Given the description of an element on the screen output the (x, y) to click on. 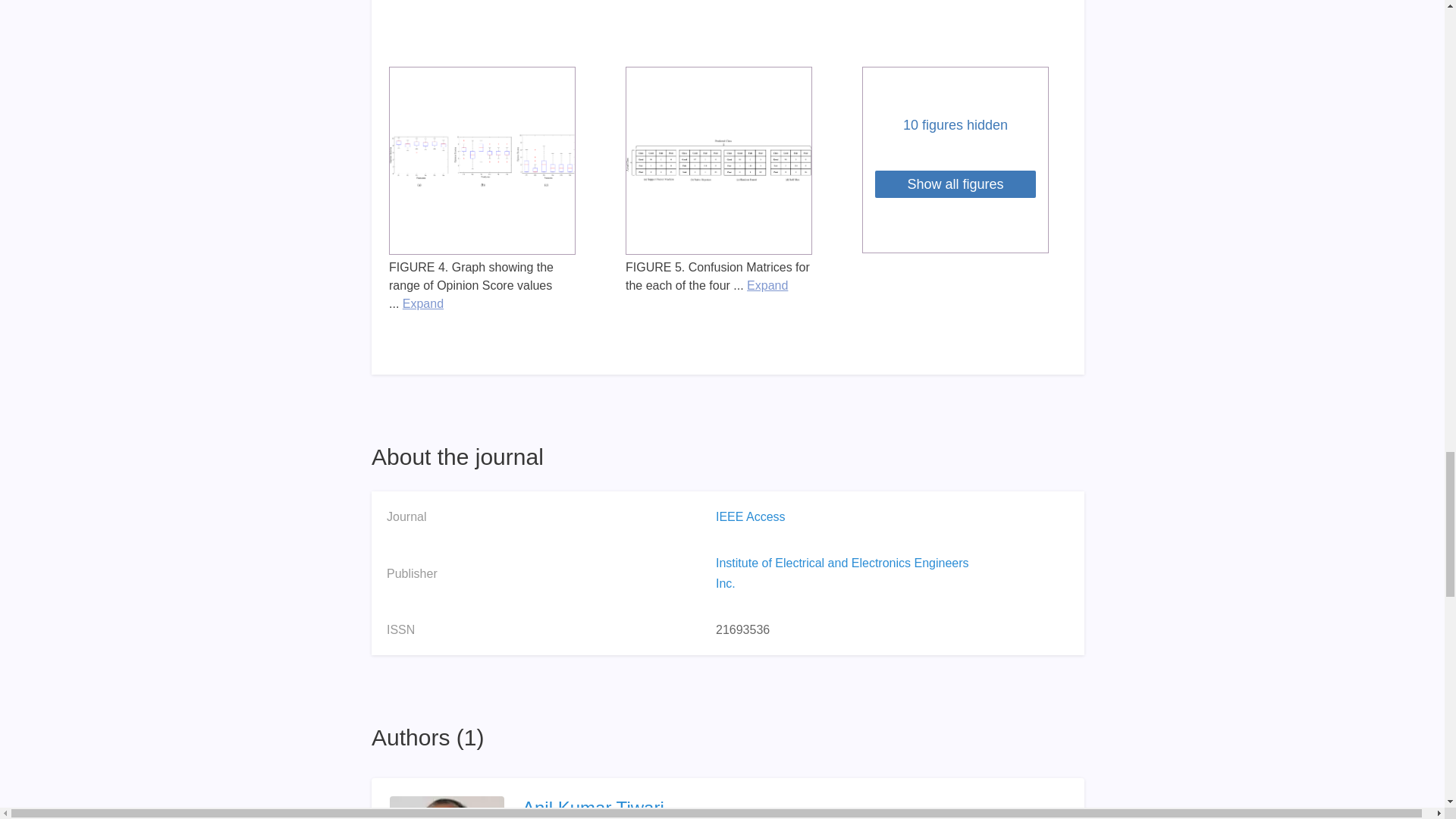
IEEE Access (751, 516)
Anil Kumar Tiwari (766, 807)
Institute of Electrical and Electronics Engineers Inc. (842, 572)
